Given the description of an element on the screen output the (x, y) to click on. 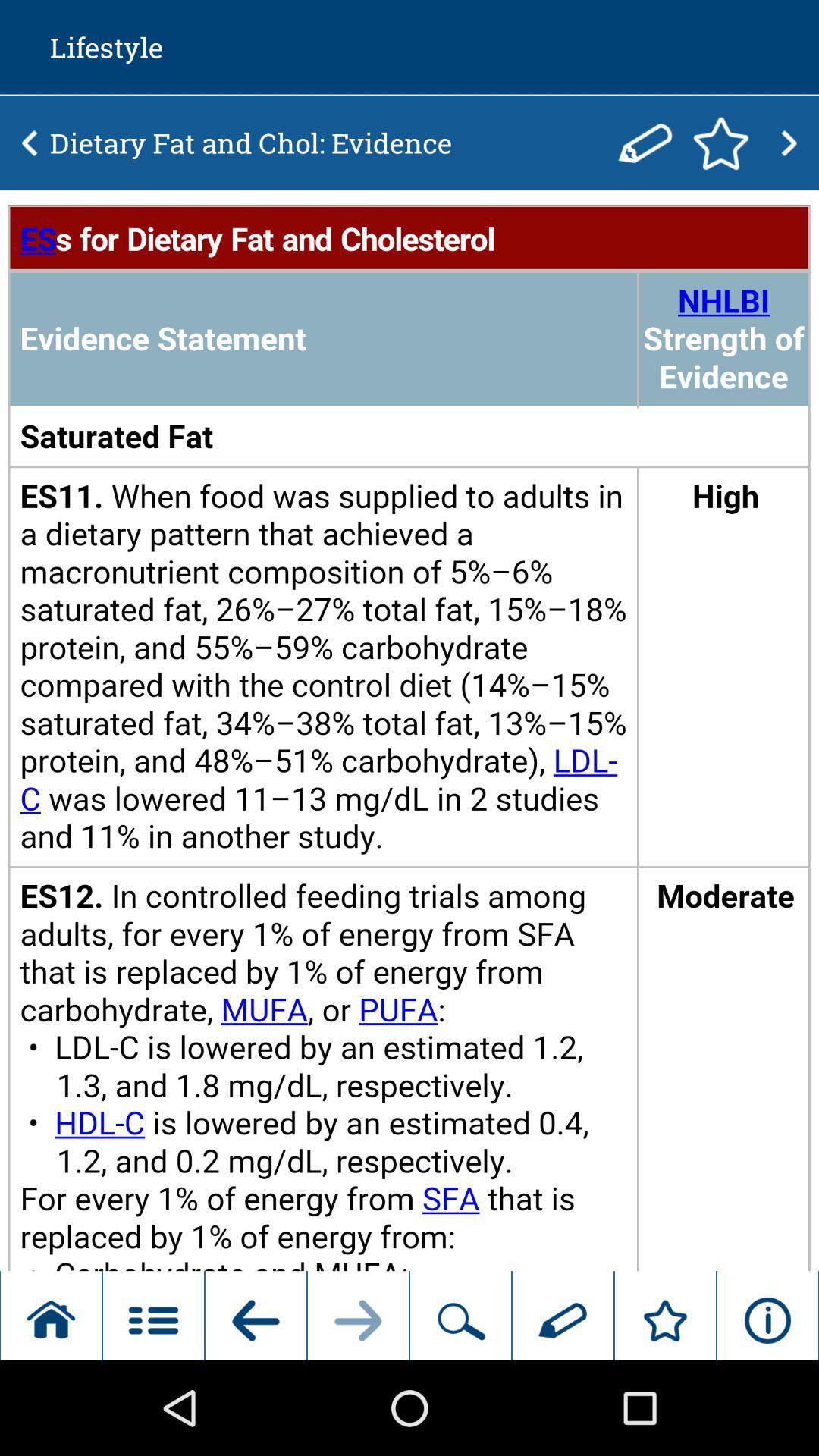
forward (788, 143)
